Given the description of an element on the screen output the (x, y) to click on. 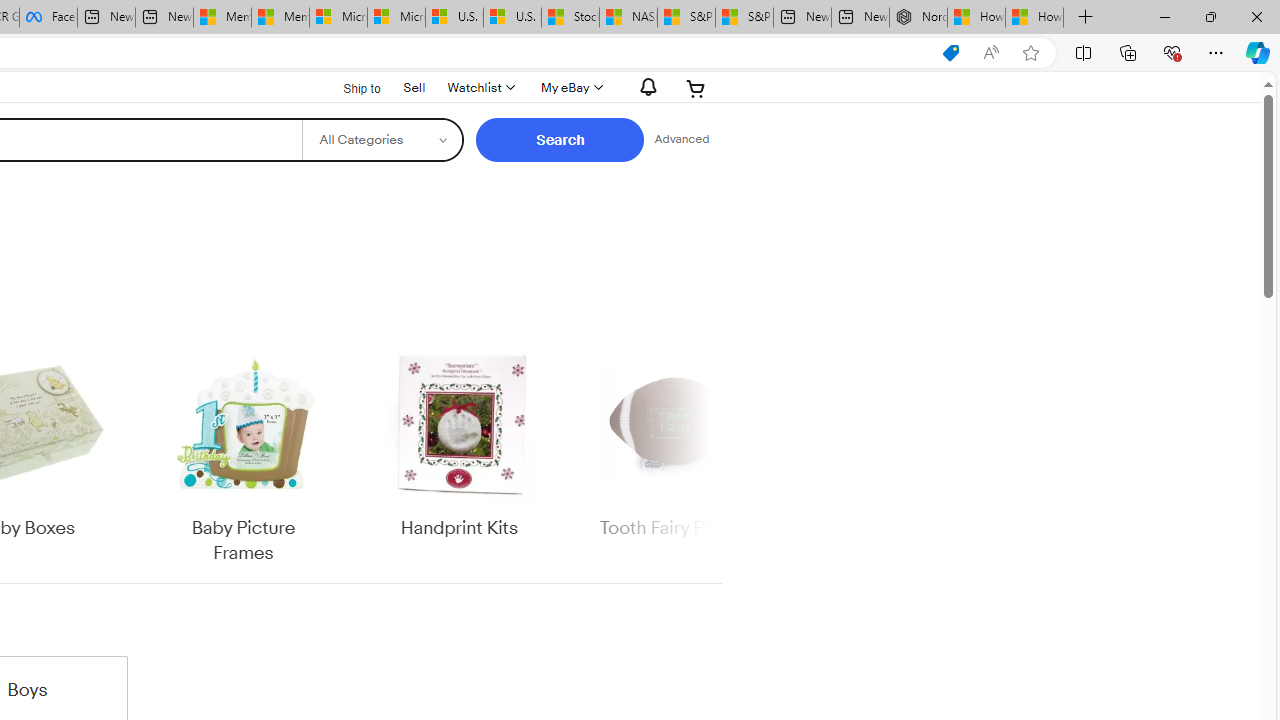
Facebook (48, 17)
WatchlistExpand Watch List (479, 88)
My eBay (569, 88)
Handprint Kits (459, 455)
New tab (860, 17)
New Tab (1085, 17)
Add this page to favorites (Ctrl+D) (1030, 53)
This site has coupons! Shopping in Microsoft Edge (950, 53)
Sell (414, 87)
Expand Cart (696, 88)
